Given the description of an element on the screen output the (x, y) to click on. 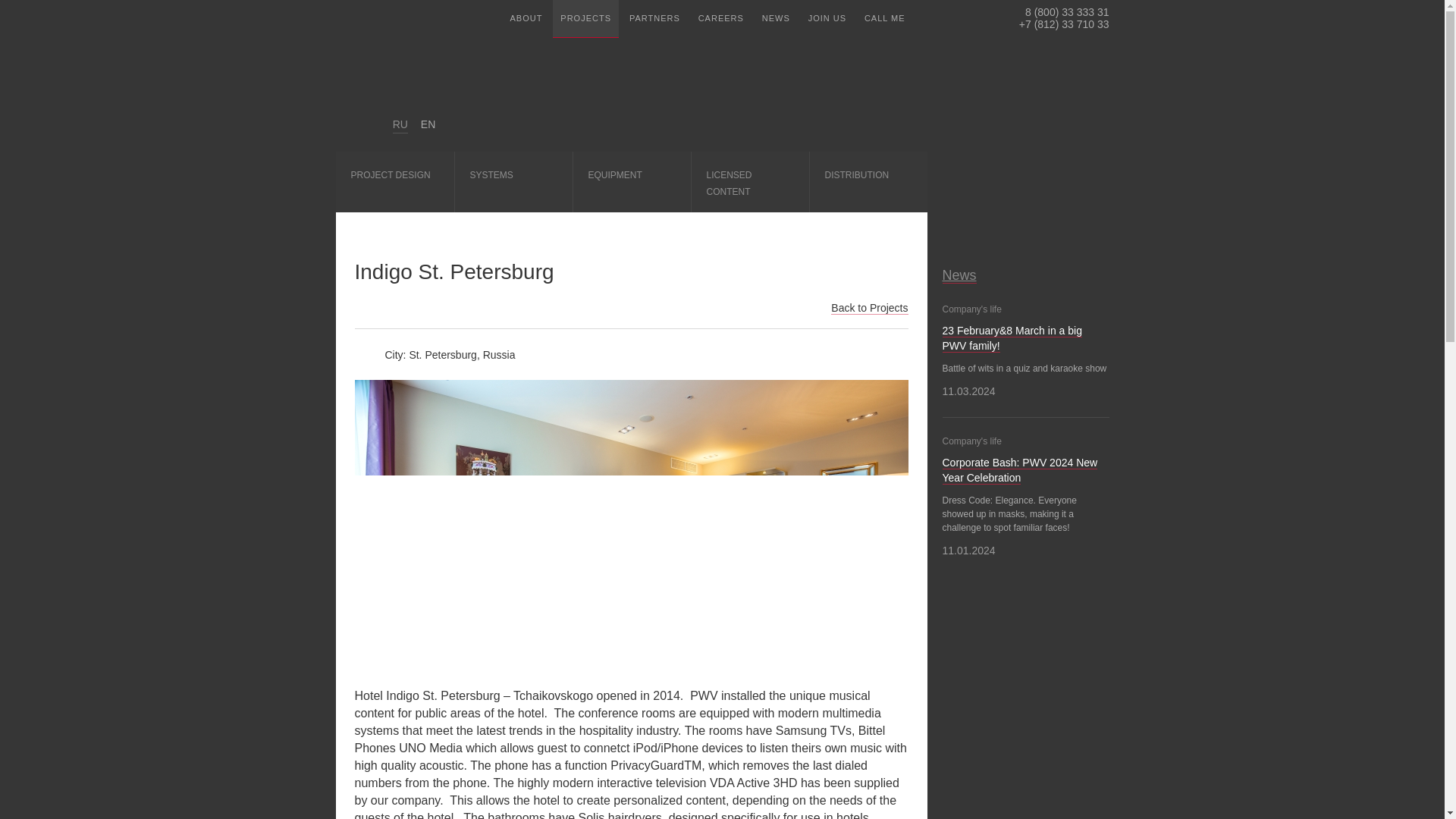
JOIN US (826, 18)
CALL ME (884, 18)
DISTRIBUTION (867, 181)
LICENSED CONTENT (749, 181)
EN (427, 124)
PROJECTS (585, 18)
SYSTEMS (512, 181)
PROJECT DESIGN (393, 181)
RU (400, 125)
EQUIPMENT (631, 181)
